Given the description of an element on the screen output the (x, y) to click on. 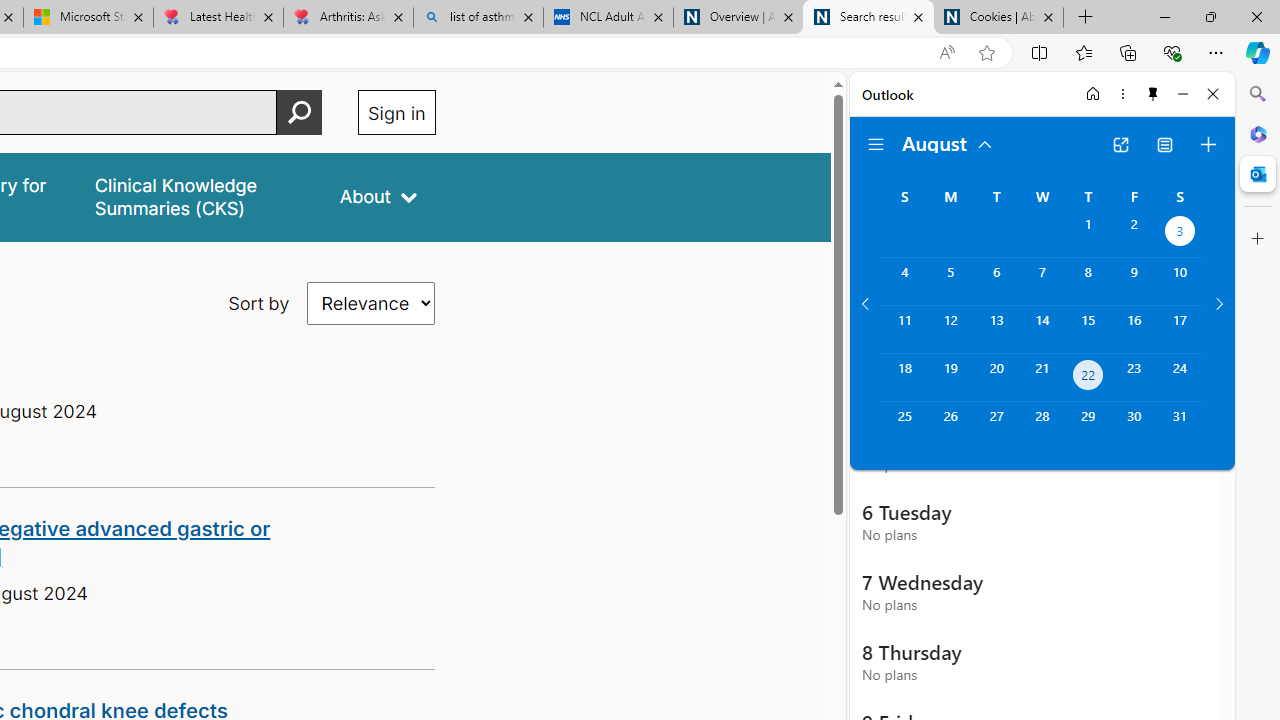
Monday, August 5, 2024.  (950, 281)
Friday, August 30, 2024.  (1134, 425)
Home (1093, 93)
Tuesday, August 20, 2024.  (996, 377)
About (378, 196)
Sunday, August 4, 2024.  (904, 281)
Sign in (396, 112)
Perform search (299, 112)
Sunday, August 11, 2024.  (904, 329)
Sunday, August 18, 2024.  (904, 377)
Friday, August 23, 2024.  (1134, 377)
Thursday, August 15, 2024.  (1088, 329)
